Given the description of an element on the screen output the (x, y) to click on. 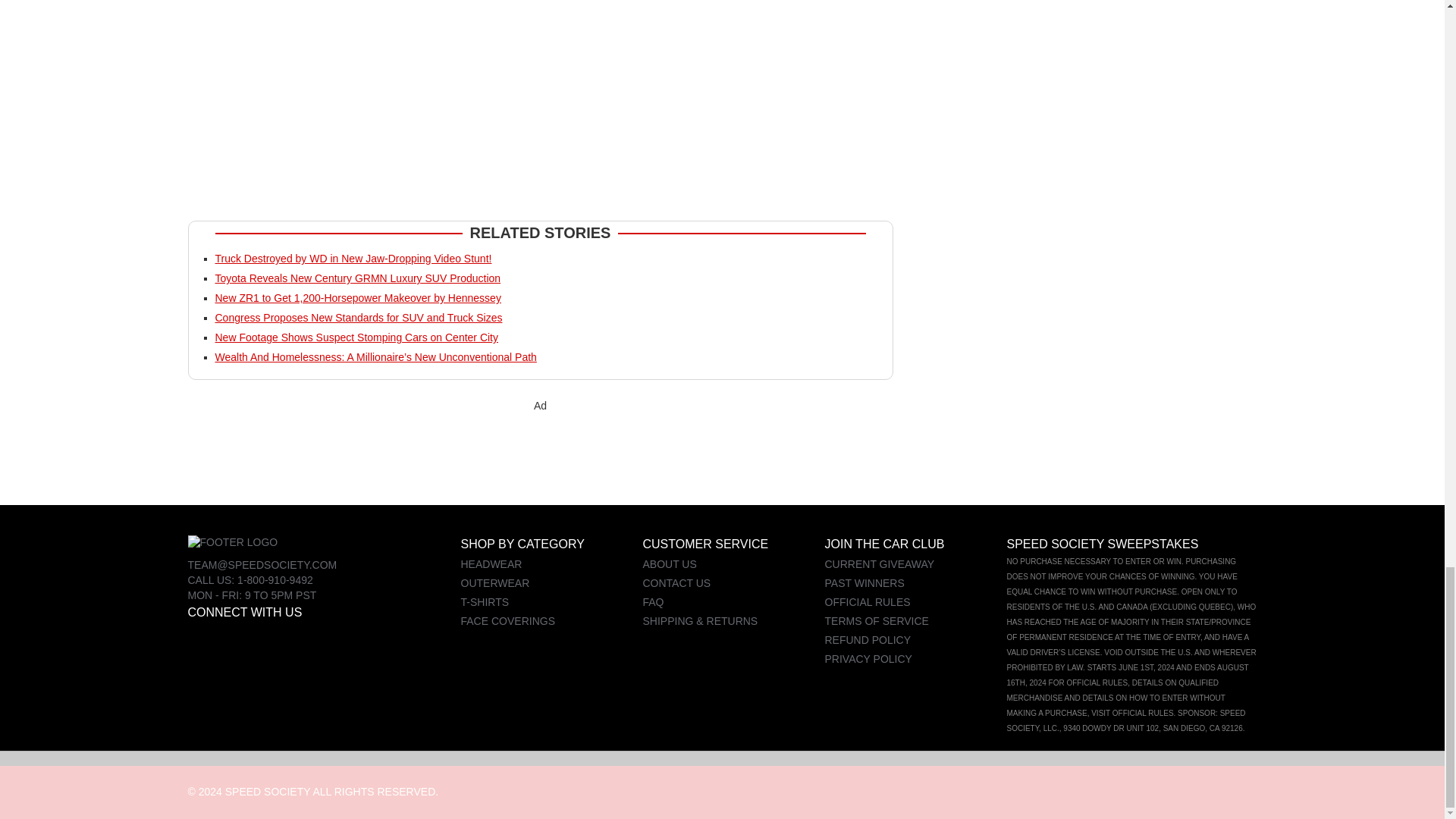
Toyota Reveals New Century GRMN Luxury SUV Production (357, 277)
Truck Destroyed by WD in New Jaw-Dropping Video Stunt! (353, 258)
footer logo (232, 542)
